Given the description of an element on the screen output the (x, y) to click on. 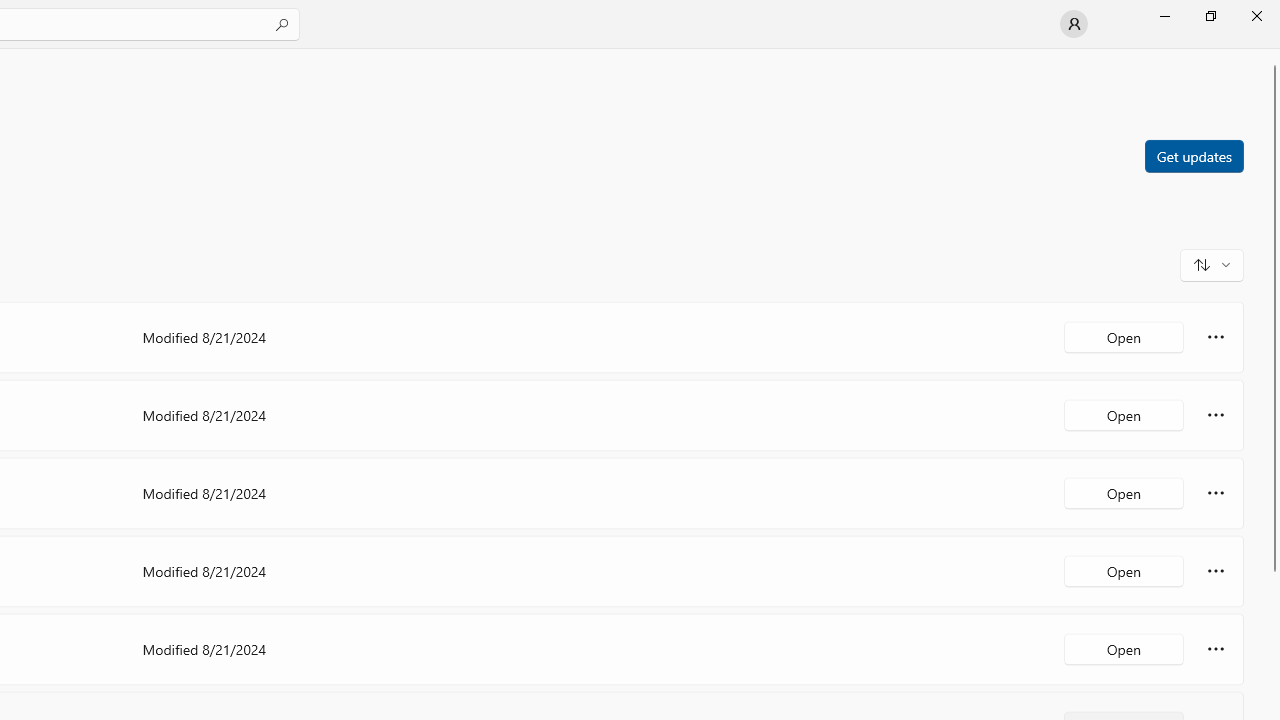
Minimize Microsoft Store (1164, 15)
Vertical Small Decrease (1272, 55)
Restore Microsoft Store (1210, 15)
Sort and filter (1212, 263)
User profile (1073, 24)
Open (1123, 648)
Get updates (1193, 155)
Close Microsoft Store (1256, 15)
More options (1215, 648)
